Given the description of an element on the screen output the (x, y) to click on. 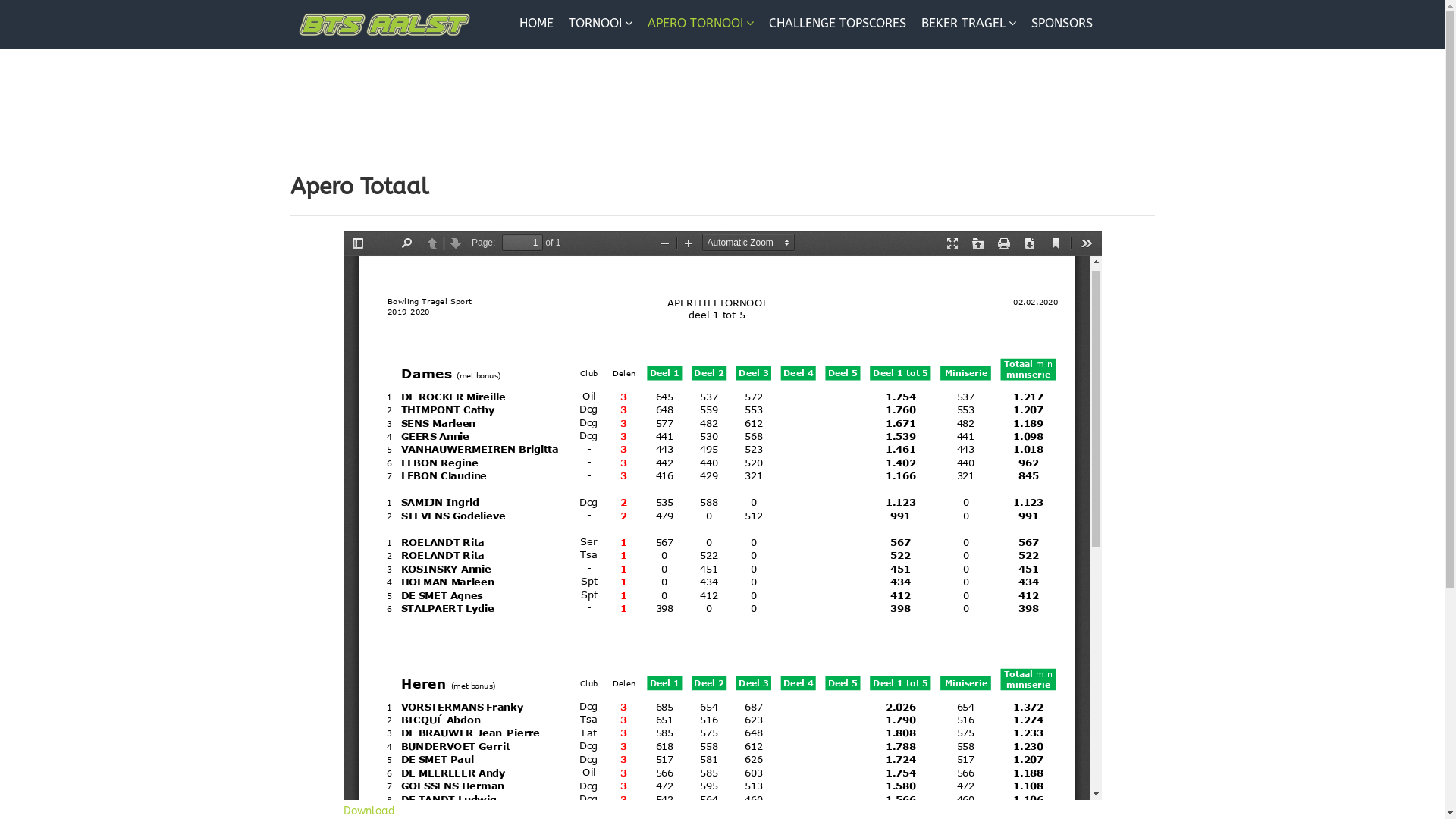
Download Element type: text (368, 810)
HOME Element type: text (536, 23)
SUPER6 Element type: text (541, 71)
TORNOOI Element type: text (600, 22)
BEKER TRAGEL Element type: text (968, 22)
SPONSORS Element type: text (1061, 23)
CHALLENGE TOPSCORES Element type: text (837, 23)
APERO TORNOOI Element type: text (700, 22)
